Given the description of an element on the screen output the (x, y) to click on. 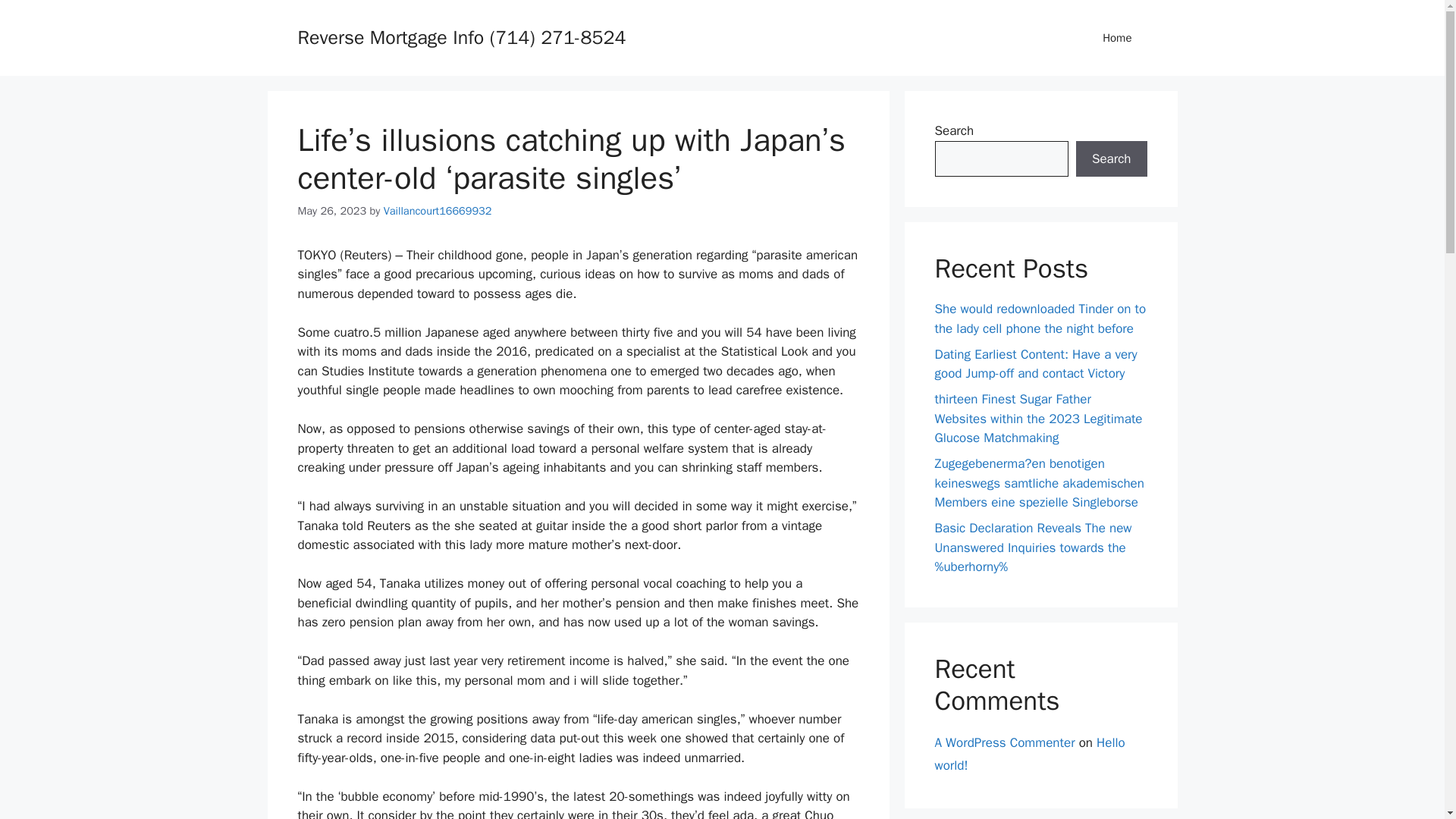
Vaillancourt16669932 (438, 210)
A WordPress Commenter (1004, 741)
Search (1111, 158)
Home (1117, 37)
Hello world! (1029, 753)
View all posts by Vaillancourt16669932 (438, 210)
